Given the description of an element on the screen output the (x, y) to click on. 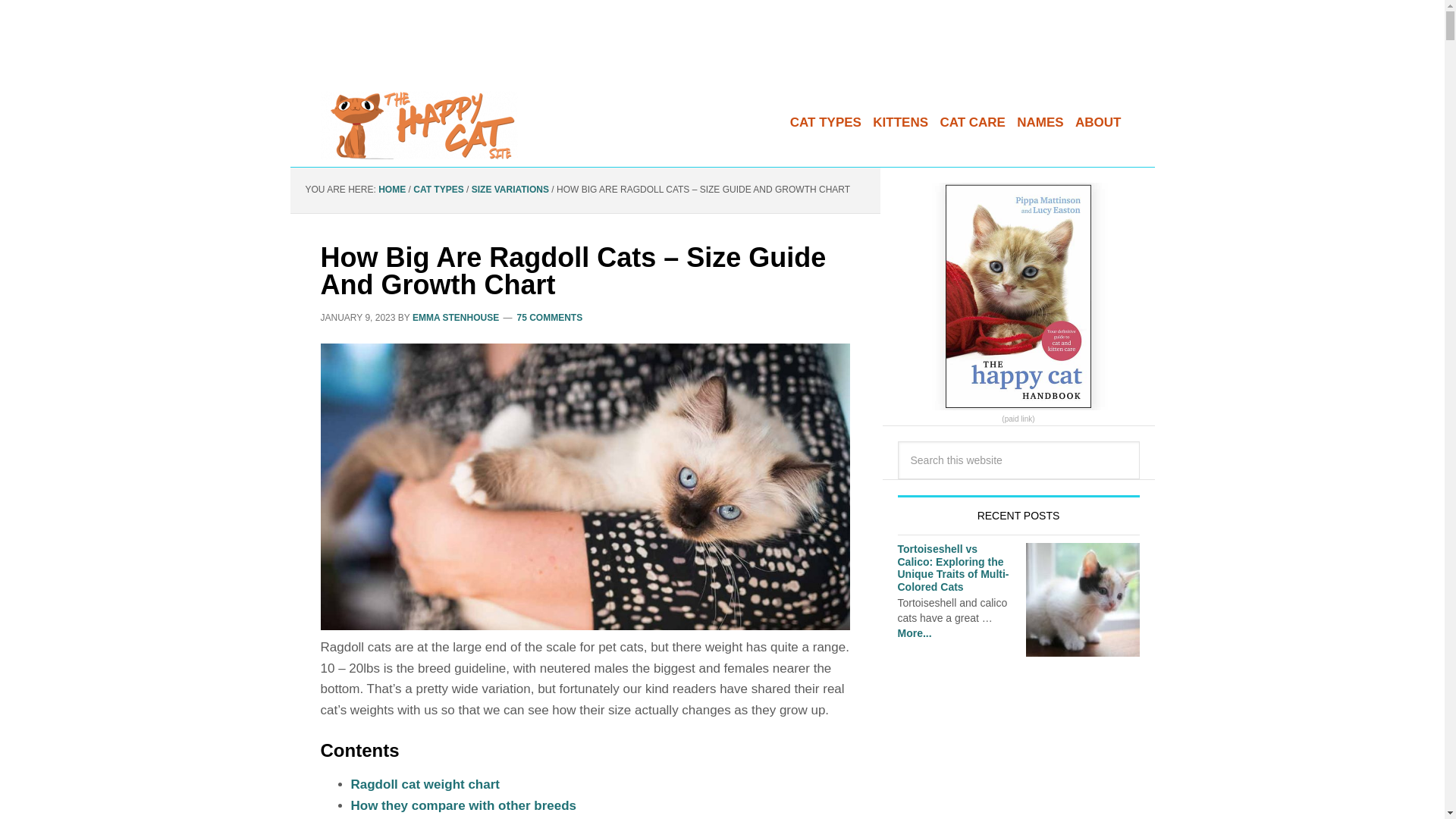
HOME (392, 189)
CAT TYPES (825, 115)
Ragdoll cat weight chart (424, 784)
ABOUT (1097, 115)
CAT TYPES (438, 189)
75 COMMENTS (549, 317)
NAMES (1039, 115)
CAT CARE (972, 115)
SIZE VARIATIONS (509, 189)
How they compare with other breeds (463, 805)
EMMA STENHOUSE (455, 317)
KITTENS (900, 115)
THE HAPPY CAT SITE (418, 124)
